Given the description of an element on the screen output the (x, y) to click on. 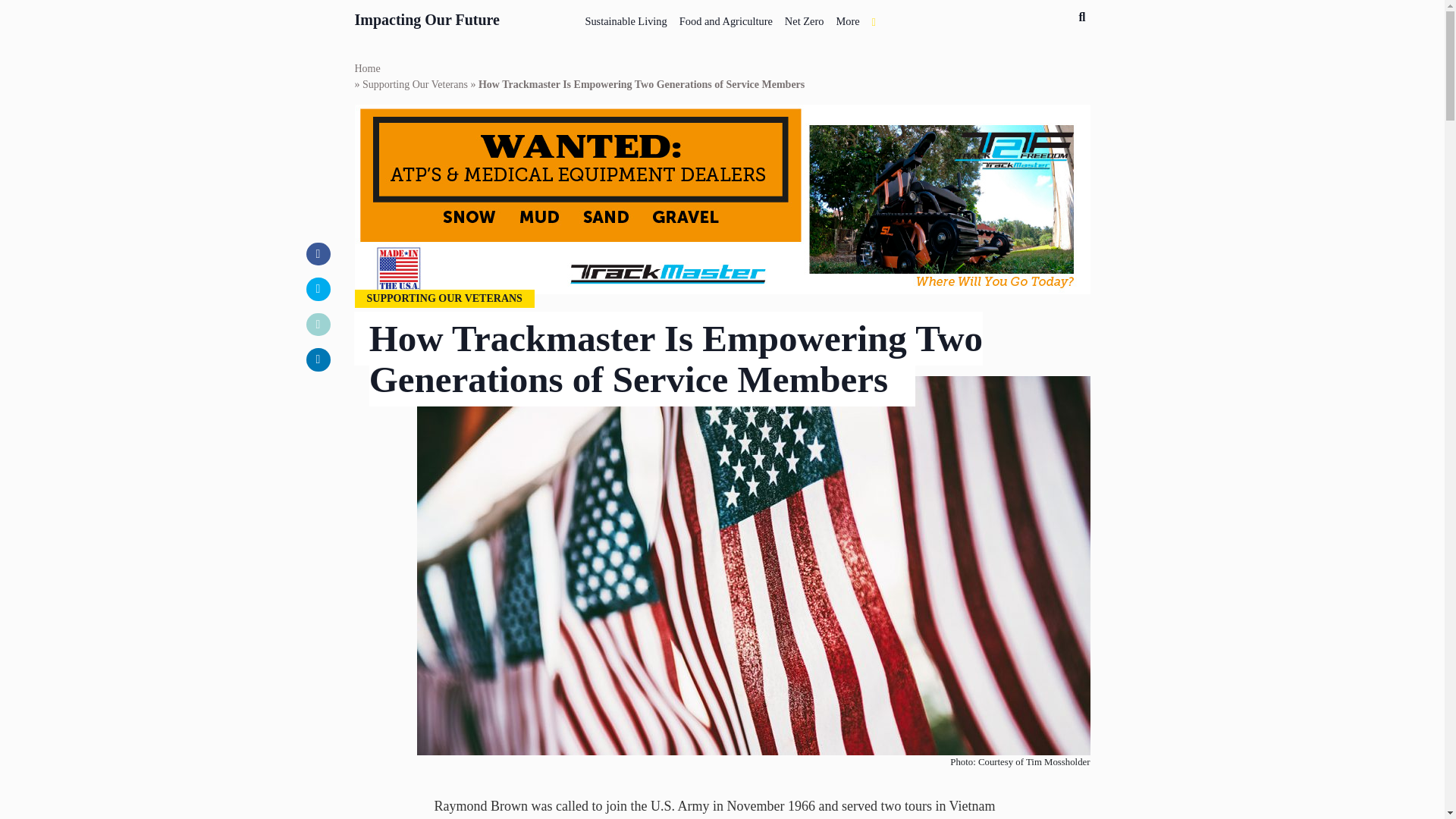
Sustainable Living (625, 18)
Net Zero (803, 18)
More (846, 18)
Impacting Our Future (427, 17)
Home (367, 68)
Food and Agriculture (725, 18)
Supporting Our Veterans (414, 84)
